Given the description of an element on the screen output the (x, y) to click on. 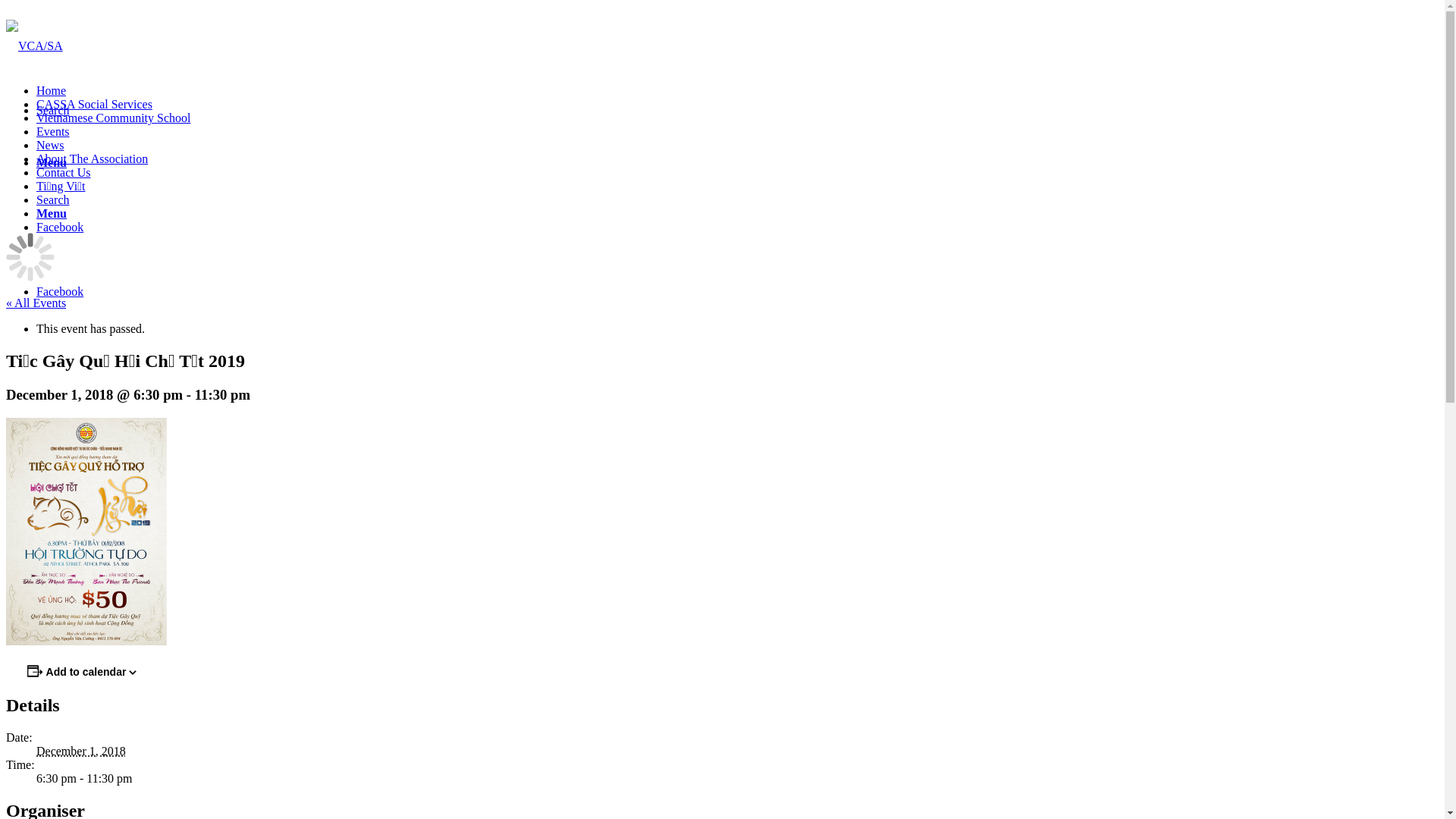
Facebook Element type: text (59, 291)
Menu Element type: text (51, 162)
CASSA Social Services Element type: text (94, 103)
Search Element type: text (52, 109)
About The Association Element type: text (91, 158)
Contact Us Element type: text (63, 172)
Search Element type: text (52, 199)
Events Element type: text (52, 131)
Vietnamese Community School Element type: text (113, 117)
News Element type: text (49, 144)
Add to calendar Element type: text (86, 671)
Facebook Element type: text (59, 226)
Home Element type: text (50, 90)
Menu Element type: text (51, 213)
